Given the description of an element on the screen output the (x, y) to click on. 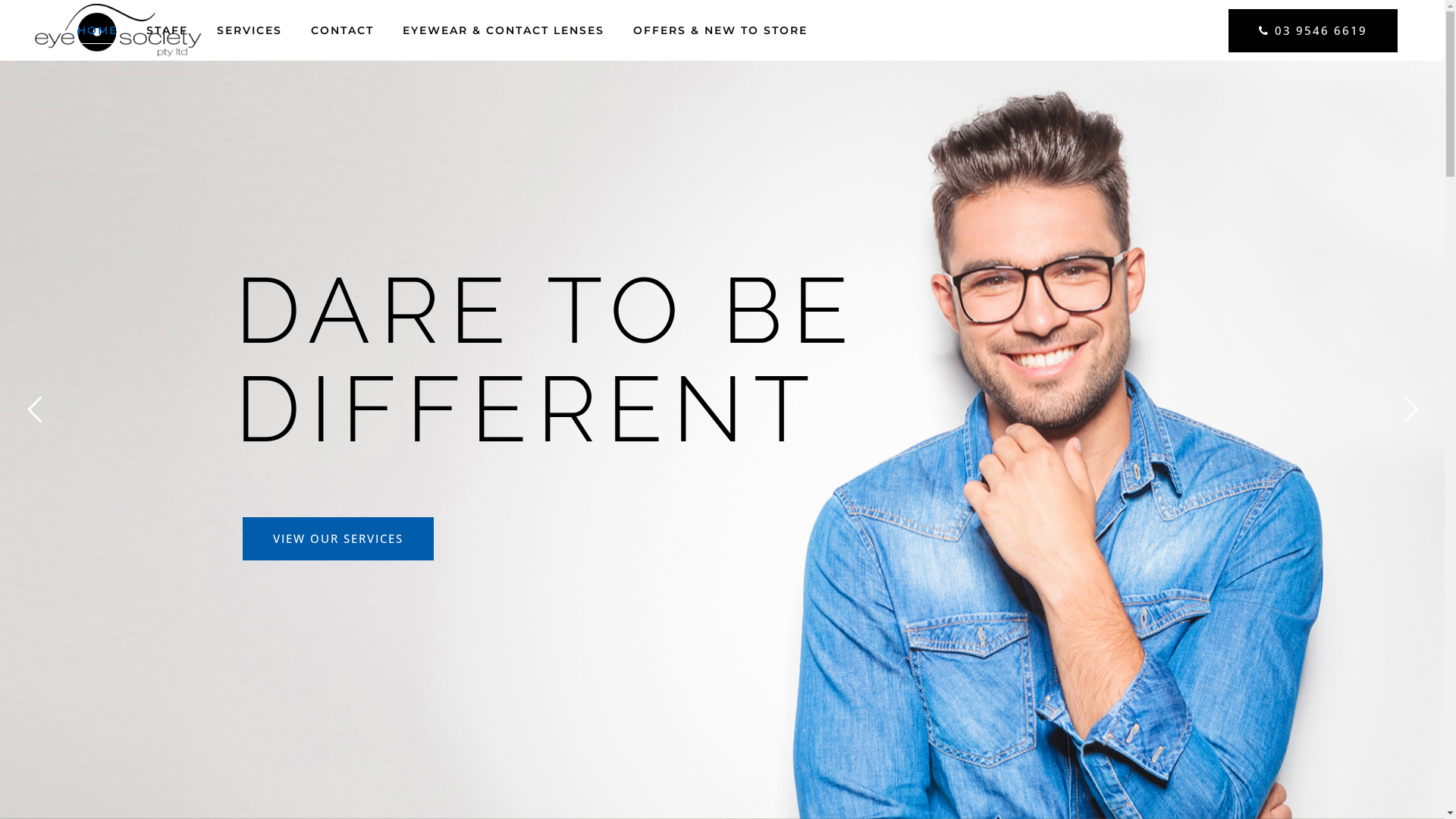
VIEW OUR SERVICES Element type: text (337, 538)
EYEWEAR & CONTACT LENSES Element type: text (503, 30)
STAFF Element type: text (166, 30)
OFFERS & NEW TO STORE Element type: text (720, 30)
CONTACT Element type: text (342, 30)
03 9546 6619 Element type: text (1312, 30)
HOME Element type: text (96, 30)
SERVICES Element type: text (249, 30)
